Given the description of an element on the screen output the (x, y) to click on. 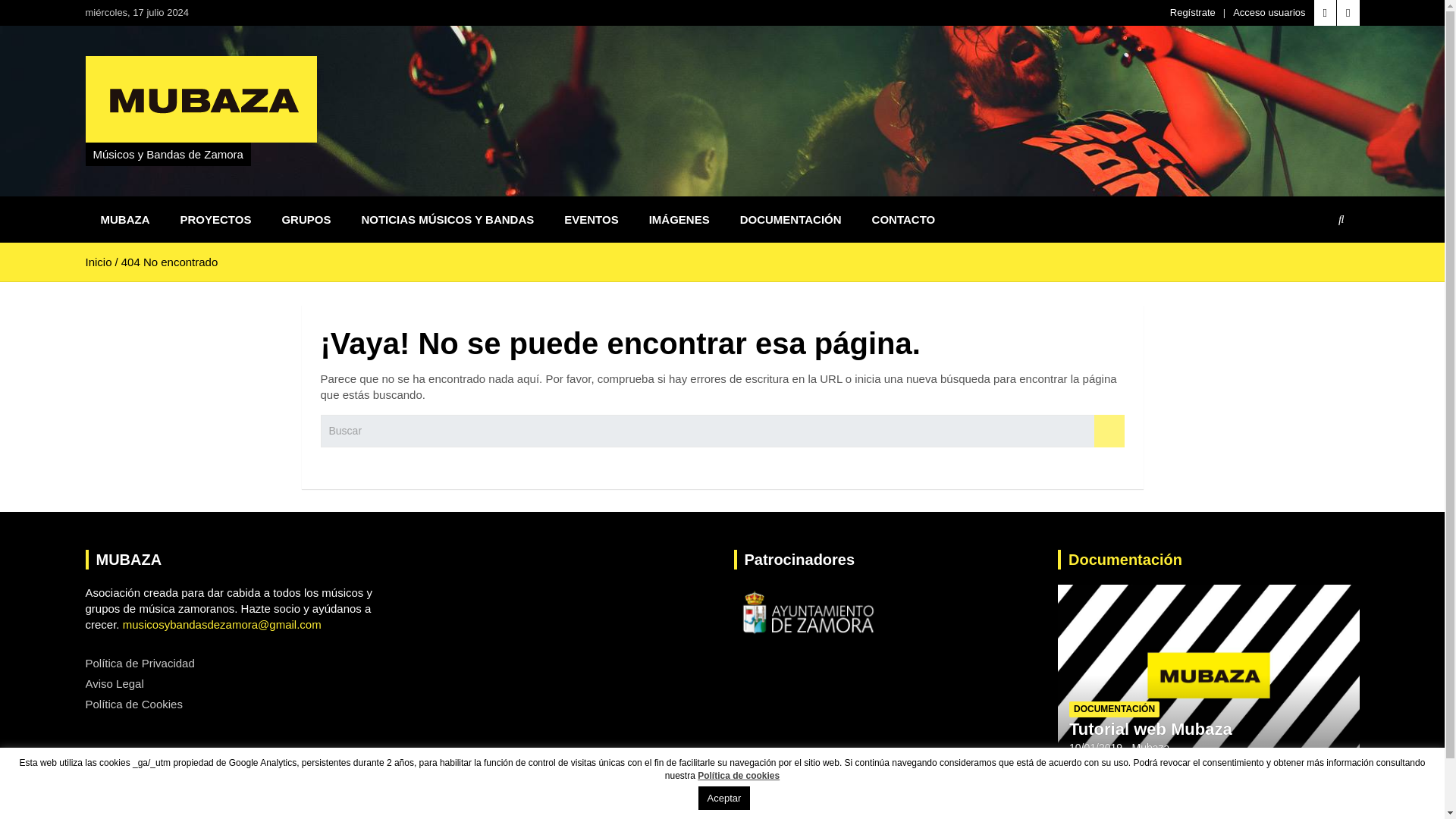
CONTACTO (903, 219)
PROYECTOS (215, 219)
Buscar (1108, 430)
Acceso usuarios (1268, 12)
GRUPOS (306, 219)
EVENTOS (590, 219)
Tutorial web Mubaza (1149, 728)
Aceptar (724, 797)
Aviso Legal (113, 683)
MUBAZA (124, 219)
Inicio (98, 261)
Mubaza (1151, 747)
Tutorial web Mubaza (1095, 747)
